Given the description of an element on the screen output the (x, y) to click on. 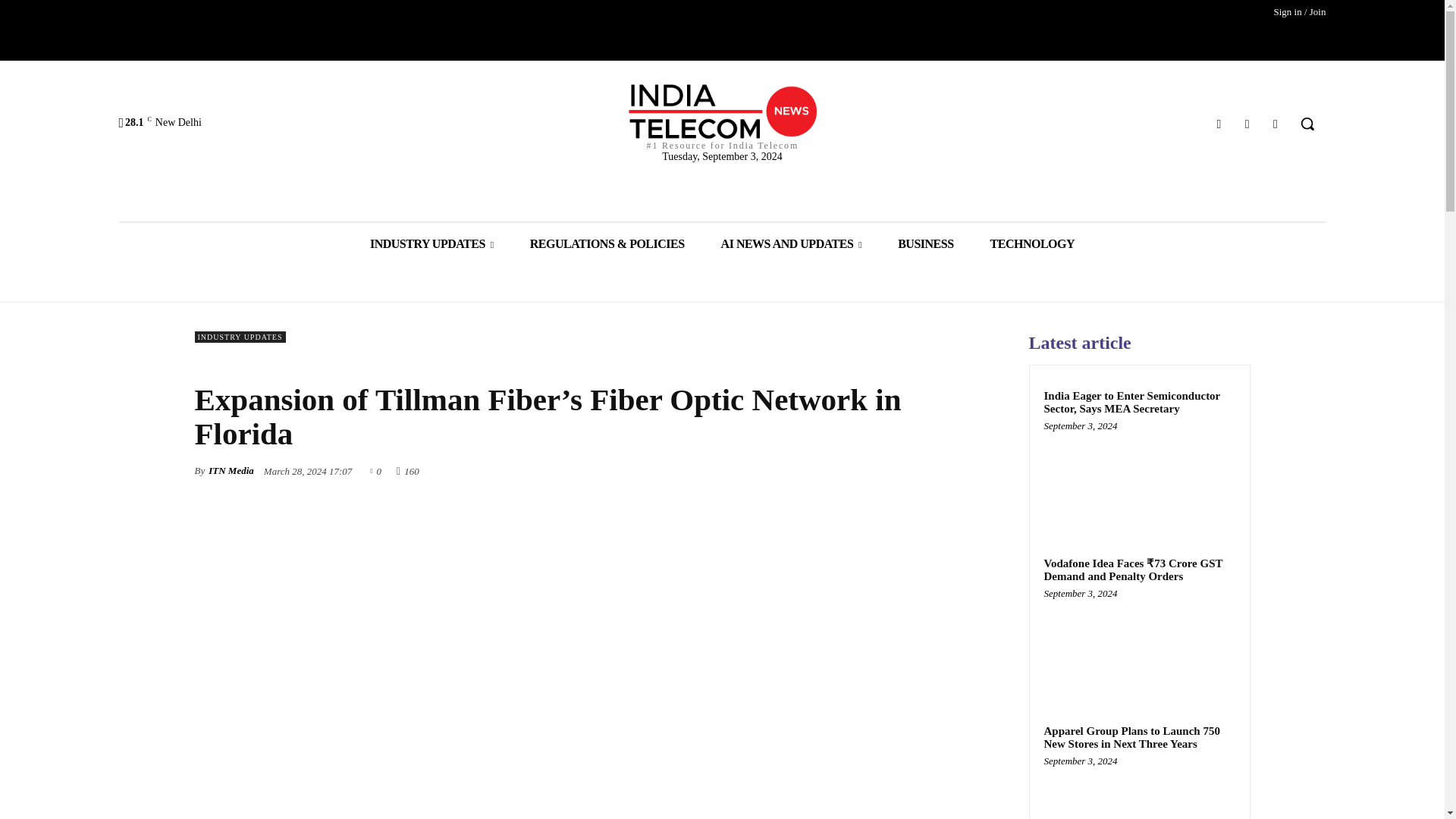
INDUSTRY UPDATES (432, 243)
Facebook (1218, 123)
TECHNOLOGY (1032, 243)
India Telecom News (721, 111)
India Telecom News (721, 116)
Twitter (1246, 123)
BUSINESS (925, 243)
Youtube (1275, 123)
AI NEWS AND UPDATES (791, 243)
